Given the description of an element on the screen output the (x, y) to click on. 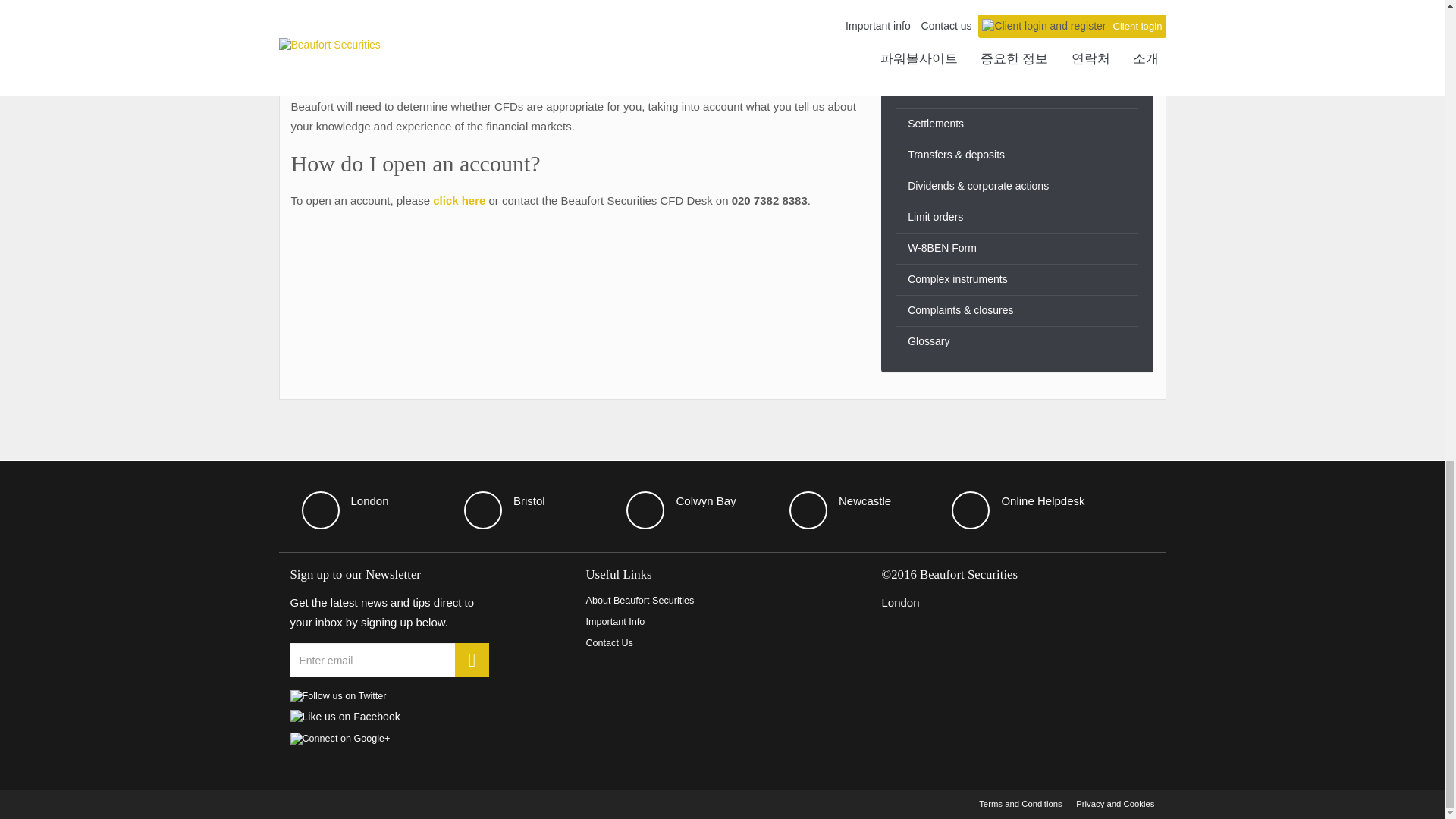
CFDs (1017, 30)
Research (1017, 92)
Advisory CFD Account Application (458, 200)
Limit orders (1017, 217)
W-8BEN Form (1017, 248)
SIPPs (1017, 61)
click here (458, 200)
Complex instruments (1017, 279)
Settlements (1017, 123)
Glossary (1017, 341)
